Given the description of an element on the screen output the (x, y) to click on. 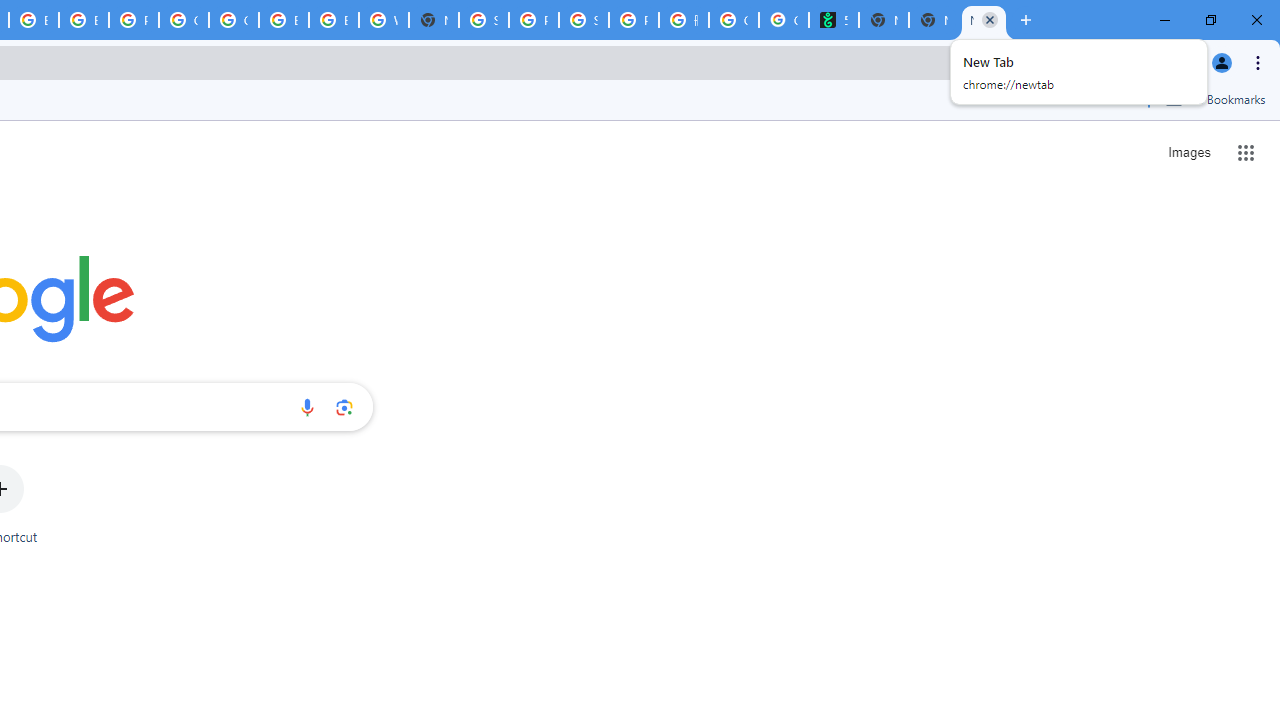
New Tab (433, 20)
Search by image (344, 407)
Chrome (1260, 62)
Search by voice (307, 407)
Bookmark this tab (1171, 62)
You (1221, 62)
Google Cloud Platform (183, 20)
Restore (1210, 20)
New Tab (933, 20)
Google Cloud Platform (233, 20)
Sign in - Google Accounts (484, 20)
